Given the description of an element on the screen output the (x, y) to click on. 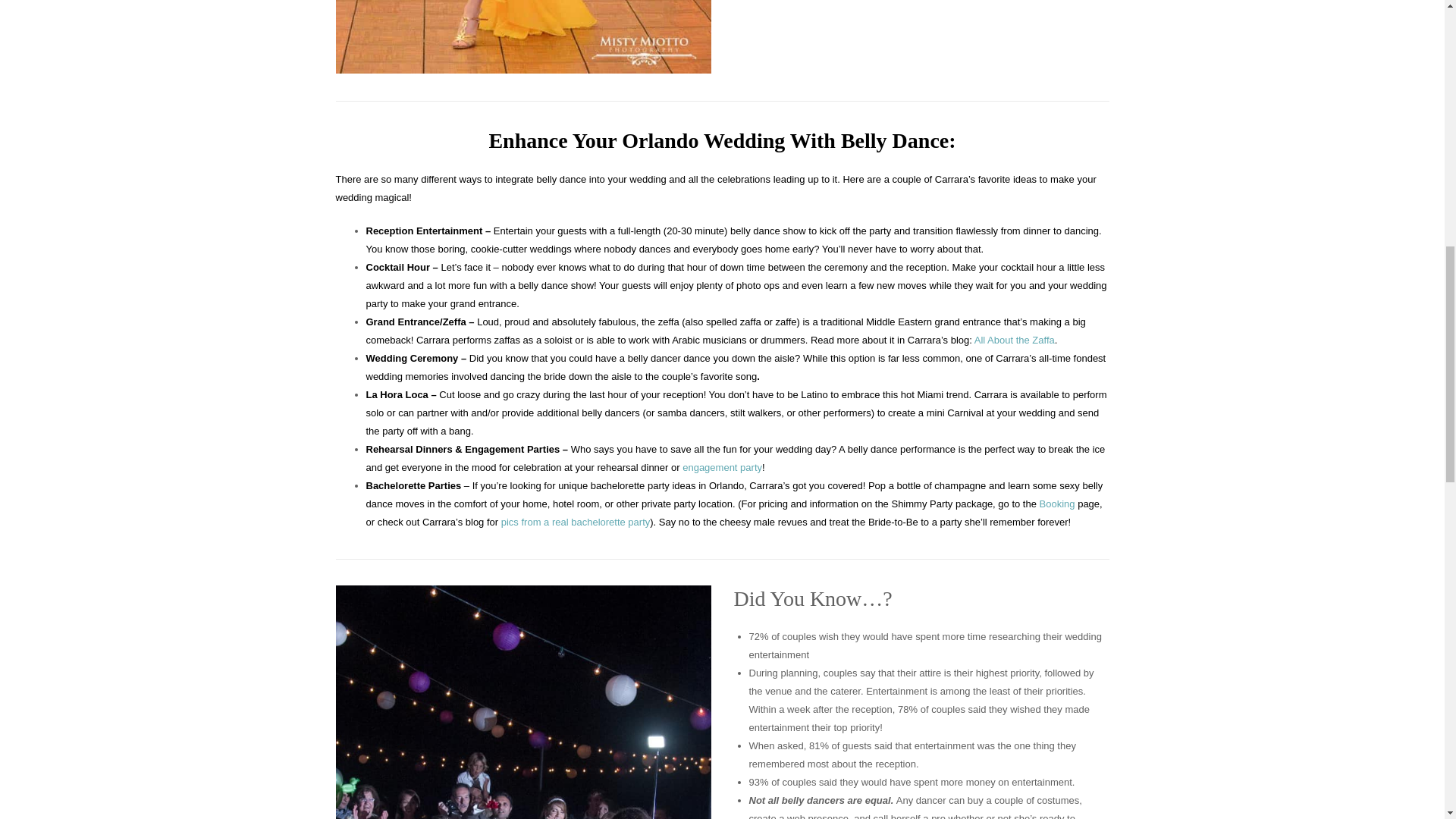
pics from a real bachelorette party (575, 521)
BellyDancerFloridaWeddings (522, 702)
engagement party (721, 467)
All About the Zaffa (1014, 339)
Booking (1057, 503)
